Given the description of an element on the screen output the (x, y) to click on. 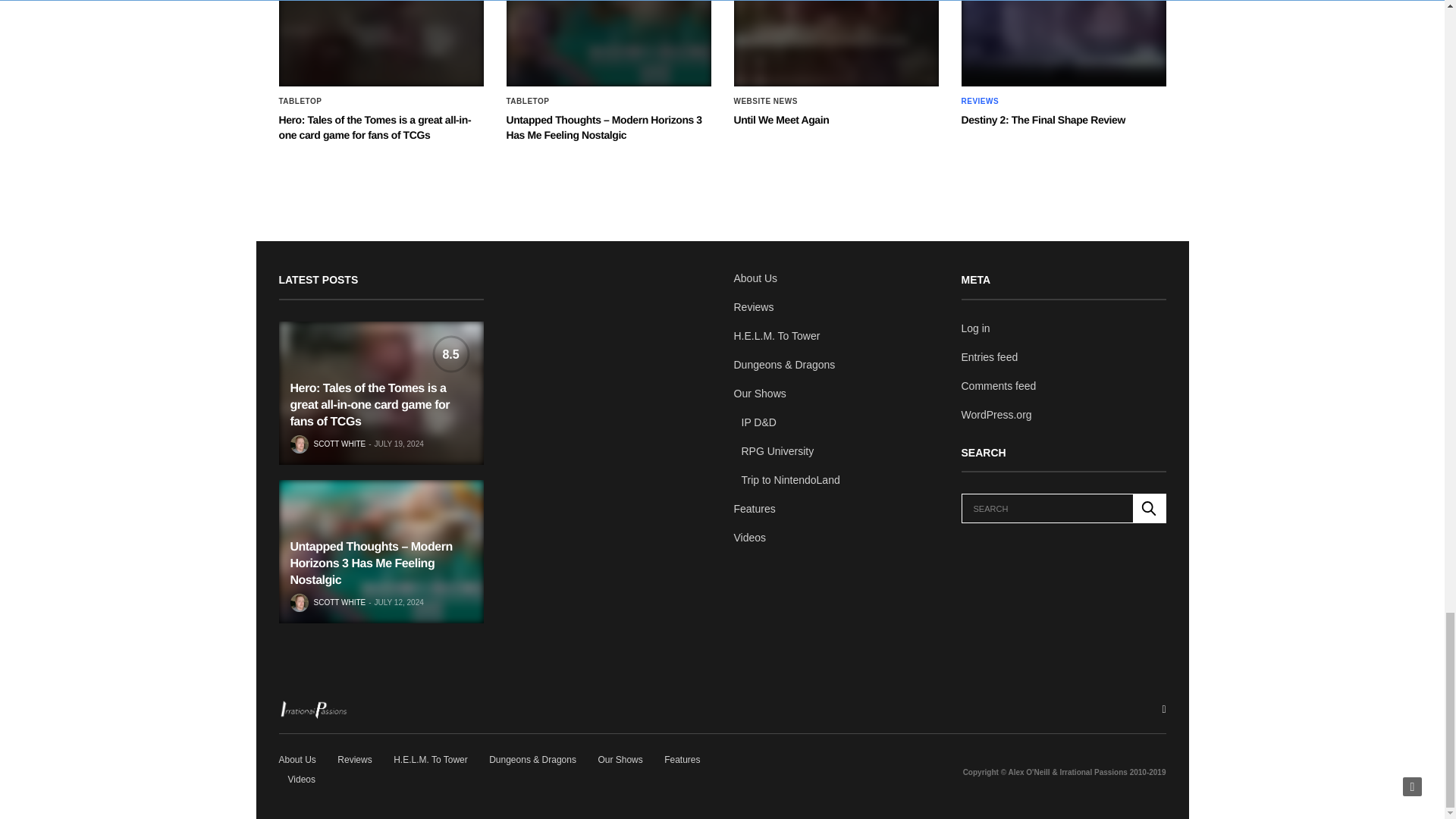
Search (1149, 508)
